Given the description of an element on the screen output the (x, y) to click on. 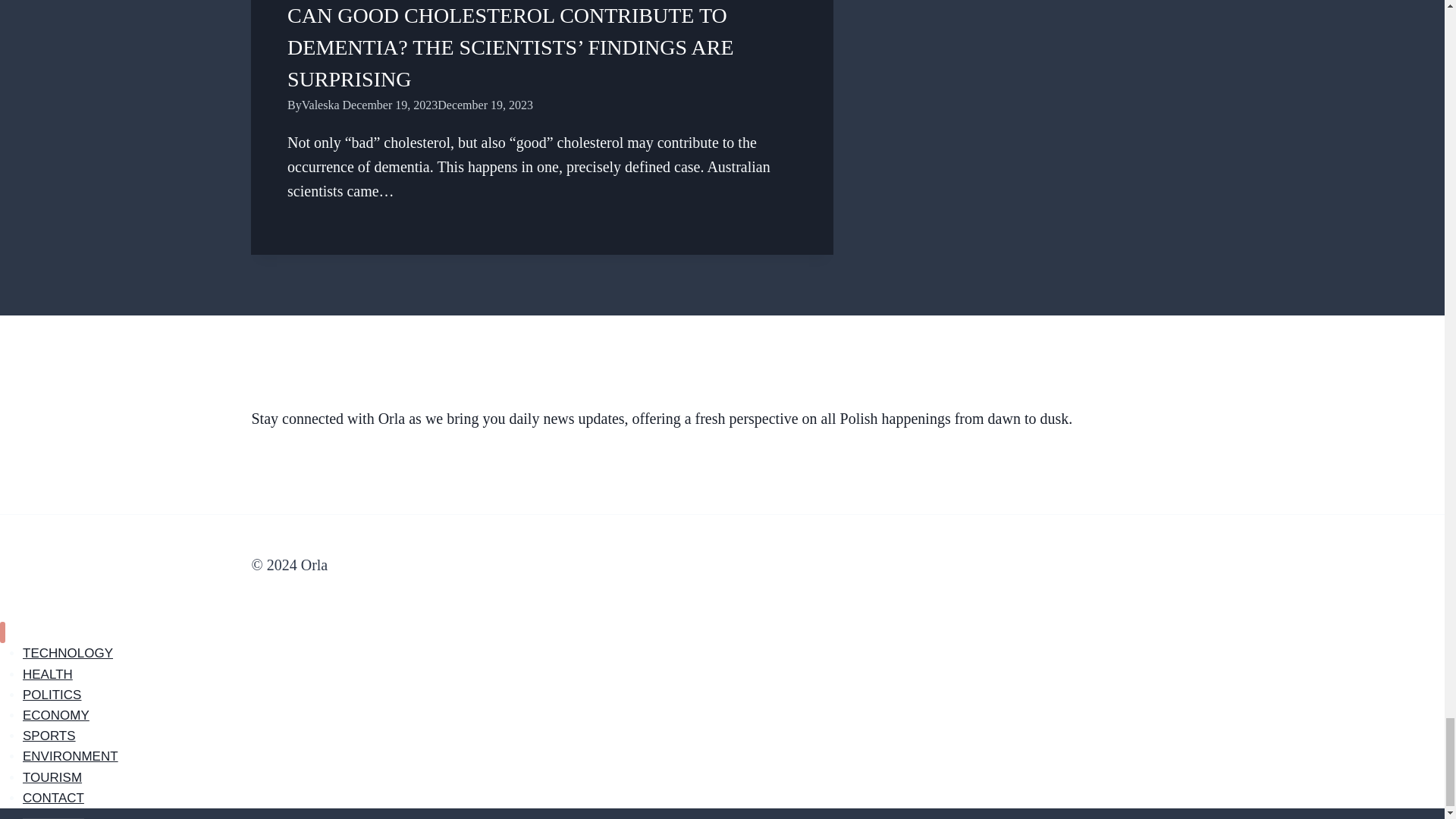
HEALTH (47, 674)
TECHNOLOGY (68, 653)
POLITICS (52, 694)
